Given the description of an element on the screen output the (x, y) to click on. 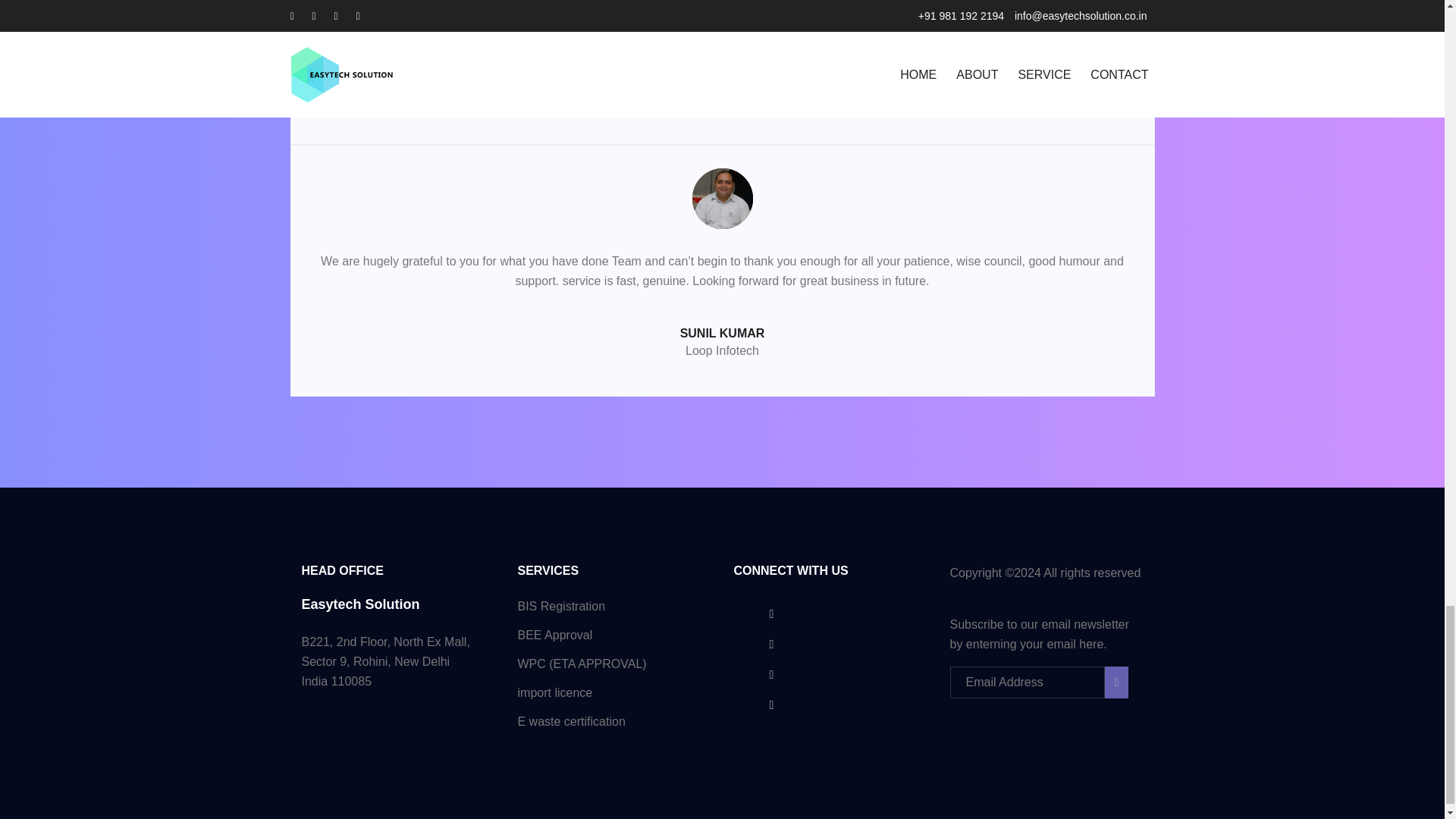
BEE Approval (554, 634)
E waste certification (570, 721)
BIS Registration (560, 605)
import licence (554, 692)
